Given the description of an element on the screen output the (x, y) to click on. 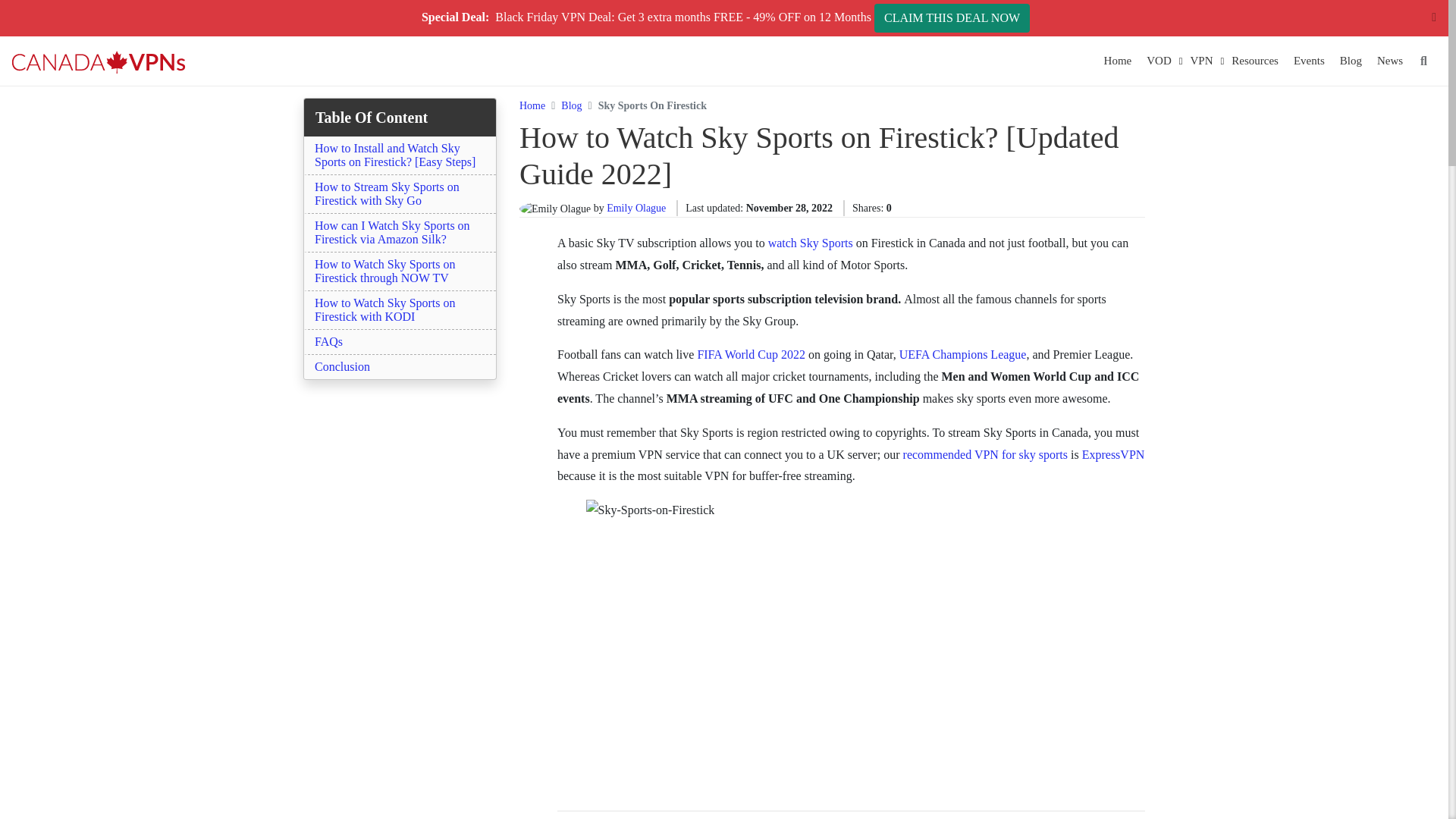
VOD (1158, 60)
CanadaVPN (99, 60)
Home (1118, 60)
